Given the description of an element on the screen output the (x, y) to click on. 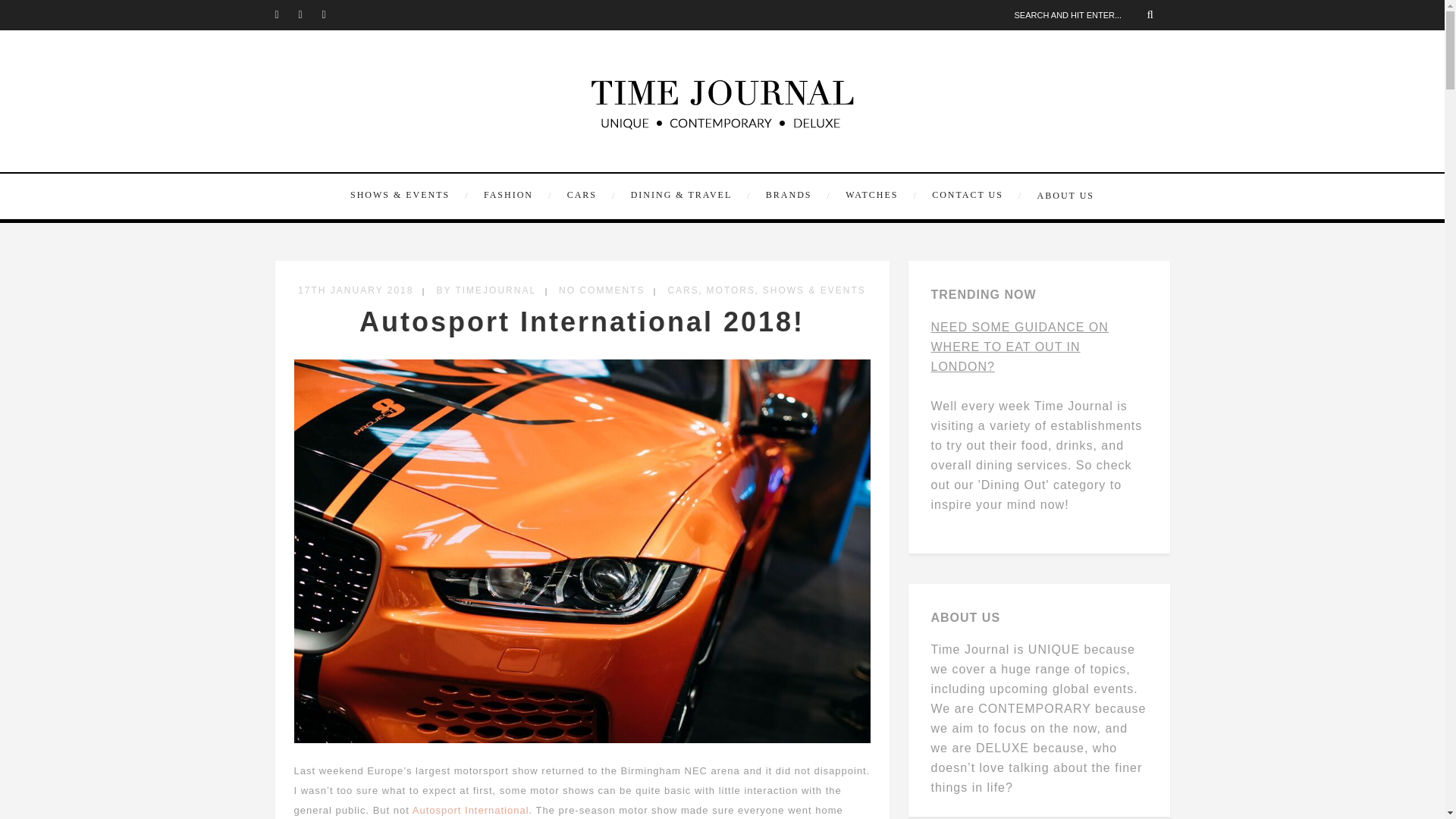
ABOUT US (1061, 195)
FASHION (516, 195)
CONTACT US (975, 195)
BRANDS (796, 195)
17TH JANUARY 2018 (355, 290)
BY TIMEJOURNAL (485, 290)
CARS (589, 195)
Permanent Link to Autosport International 2018! (582, 321)
Search and hit enter... (1088, 15)
WATCHES (879, 195)
